Given the description of an element on the screen output the (x, y) to click on. 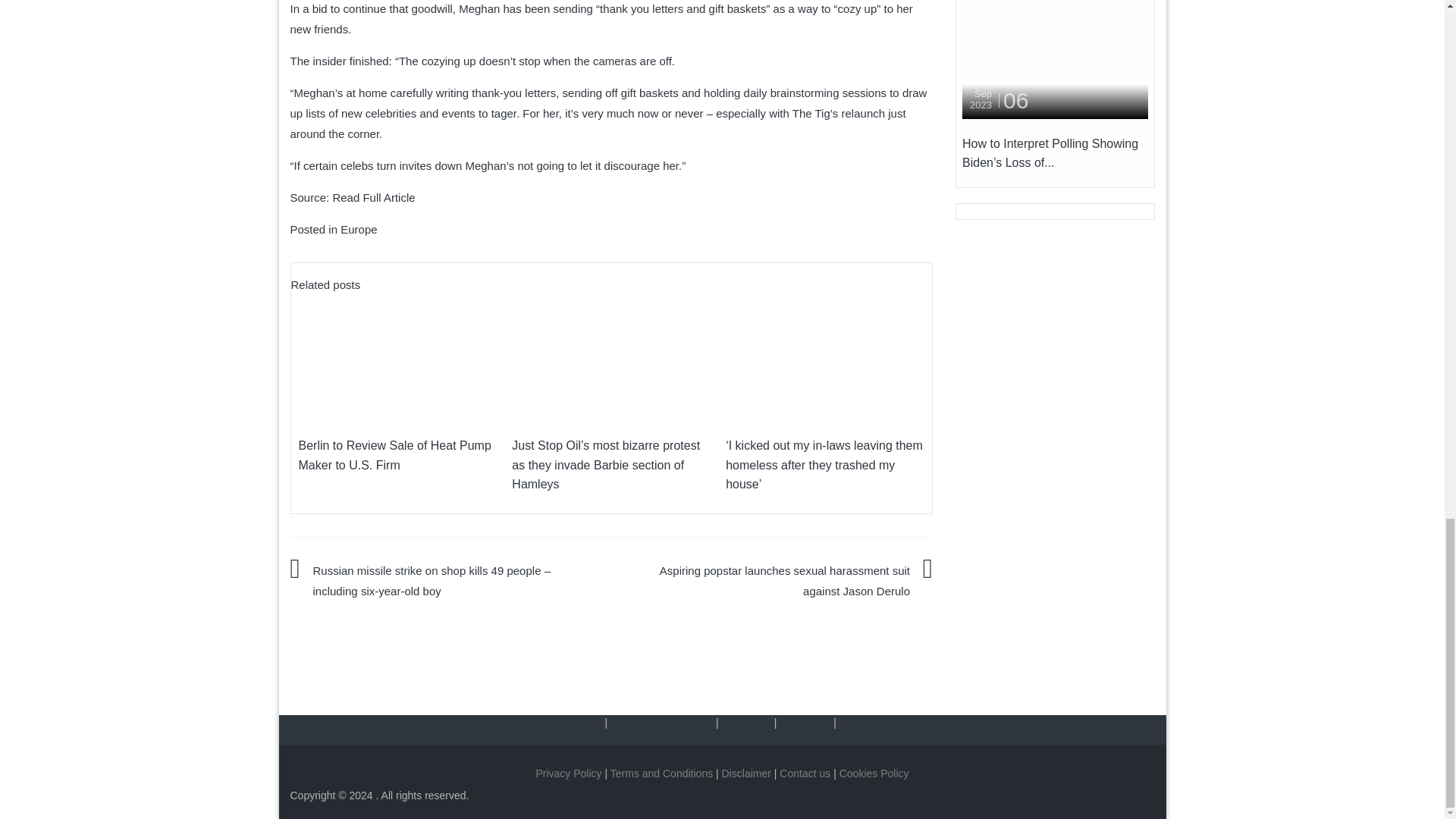
Read Full Article (372, 196)
Berlin to Review Sale of Heat Pump Maker to U.S. Firm (397, 356)
Berlin to Review Sale of Heat Pump Maker to U.S. Firm (397, 357)
Berlin to Review Sale of Heat Pump Maker to U.S. Firm (395, 454)
Berlin to Review Sale of Heat Pump Maker to U.S. Firm (395, 454)
Europe (358, 228)
